Given the description of an element on the screen output the (x, y) to click on. 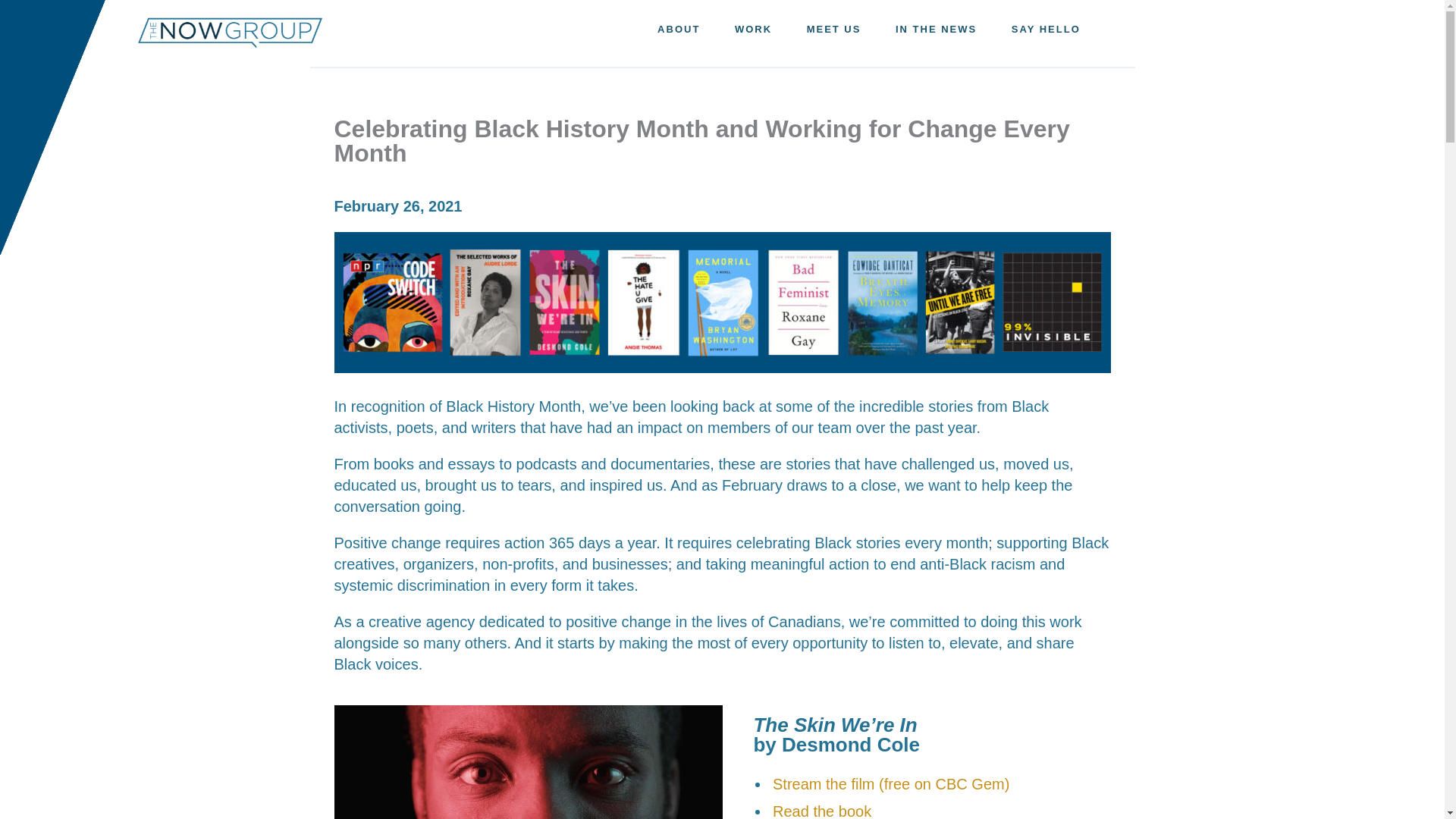
WORK (753, 28)
THE NOW GROUP (231, 32)
ABOUT (678, 28)
Read the book (821, 811)
MEET US (834, 28)
IN THE NEWS (935, 28)
SAY HELLO (1045, 28)
